Given the description of an element on the screen output the (x, y) to click on. 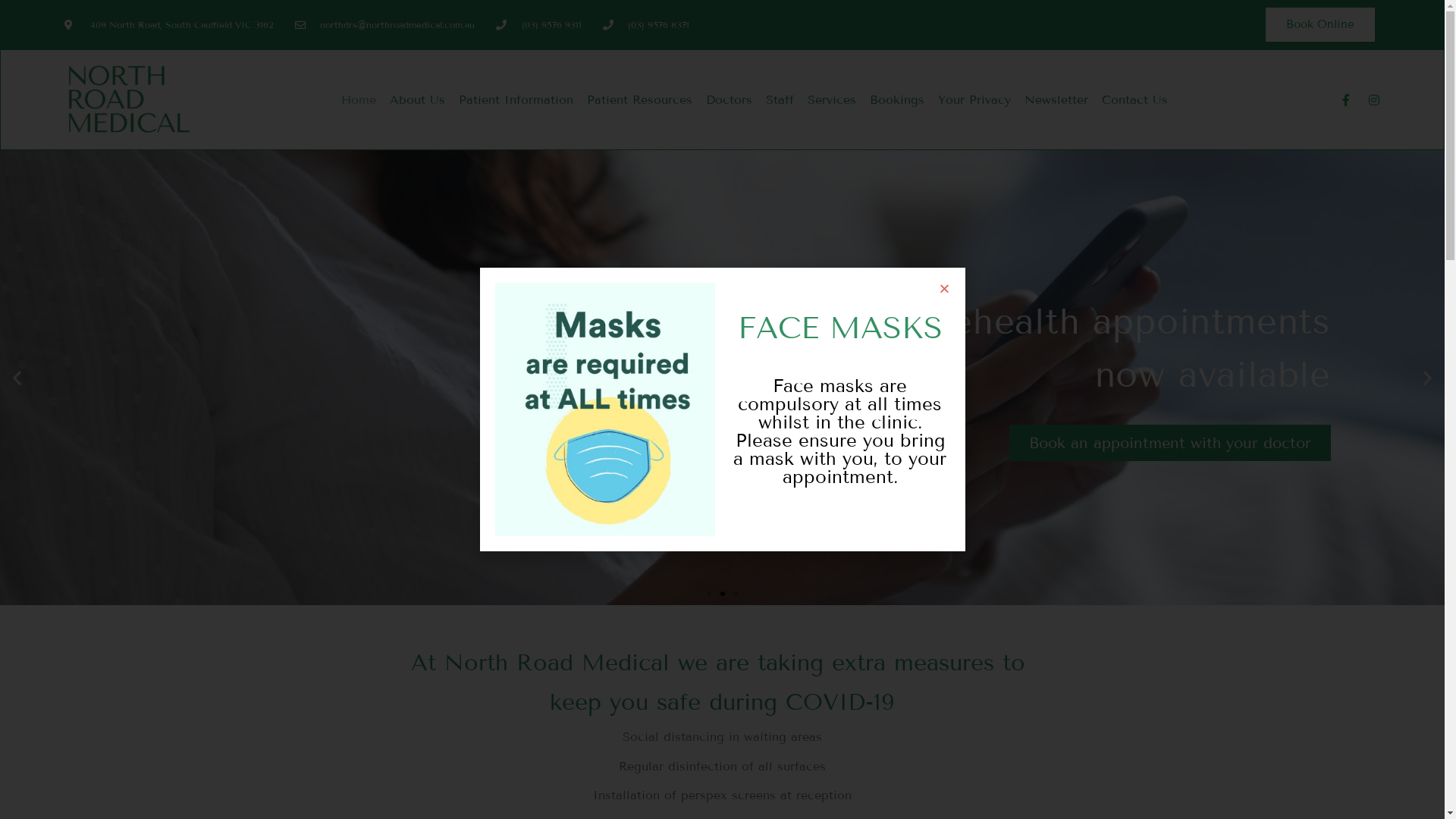
Services Element type: text (831, 99)
(03) 9576 9311 Element type: text (538, 24)
Book Online Element type: text (1319, 24)
Patient Resources Element type: text (639, 99)
Staff Element type: text (779, 99)
Home Element type: text (358, 99)
About Us Element type: text (416, 99)
Doctors Element type: text (729, 99)
northdrs@northroadmedical.com.au Element type: text (384, 24)
Newsletter Element type: text (1056, 99)
(03) 9576 8371 Element type: text (646, 24)
Bookings Element type: text (896, 99)
409 North Road, South Caulfield VIC 3162 Element type: text (168, 24)
Your Privacy Element type: text (974, 99)
Contact Us Element type: text (1134, 99)
Patient Information Element type: text (515, 99)
